Given the description of an element on the screen output the (x, y) to click on. 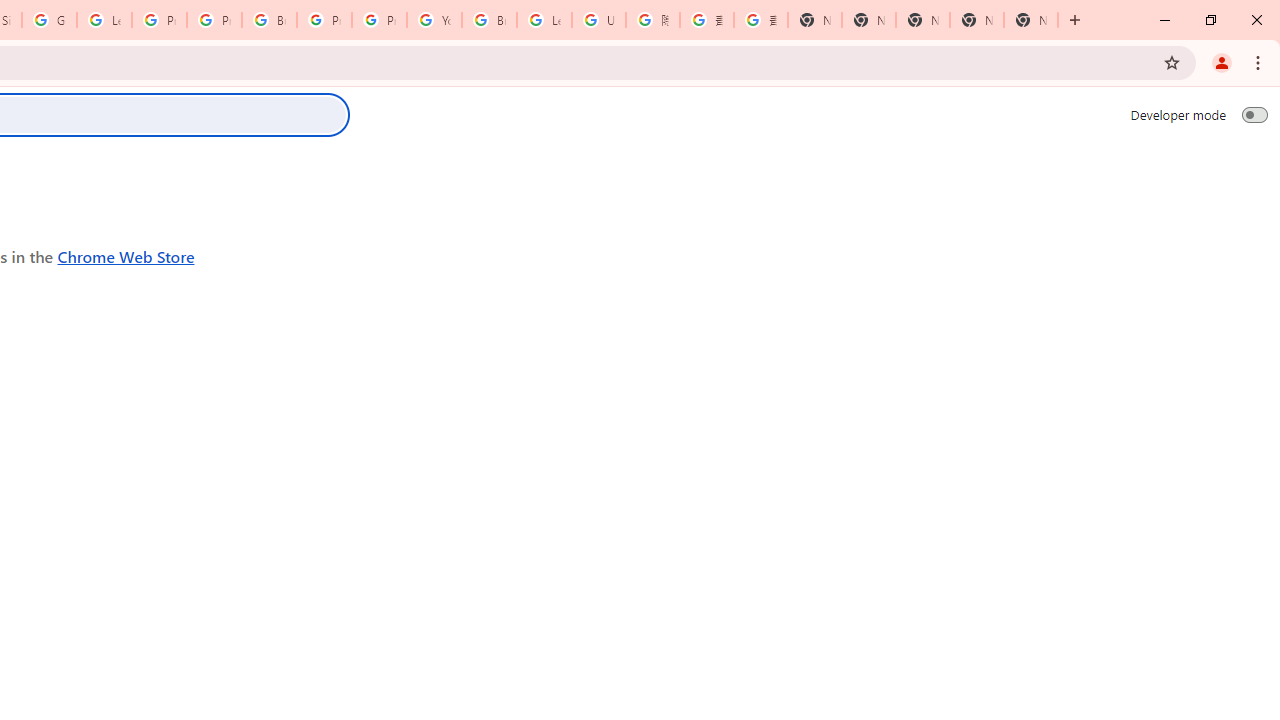
Privacy Help Center - Policies Help (158, 20)
New Tab (815, 20)
